Given the description of an element on the screen output the (x, y) to click on. 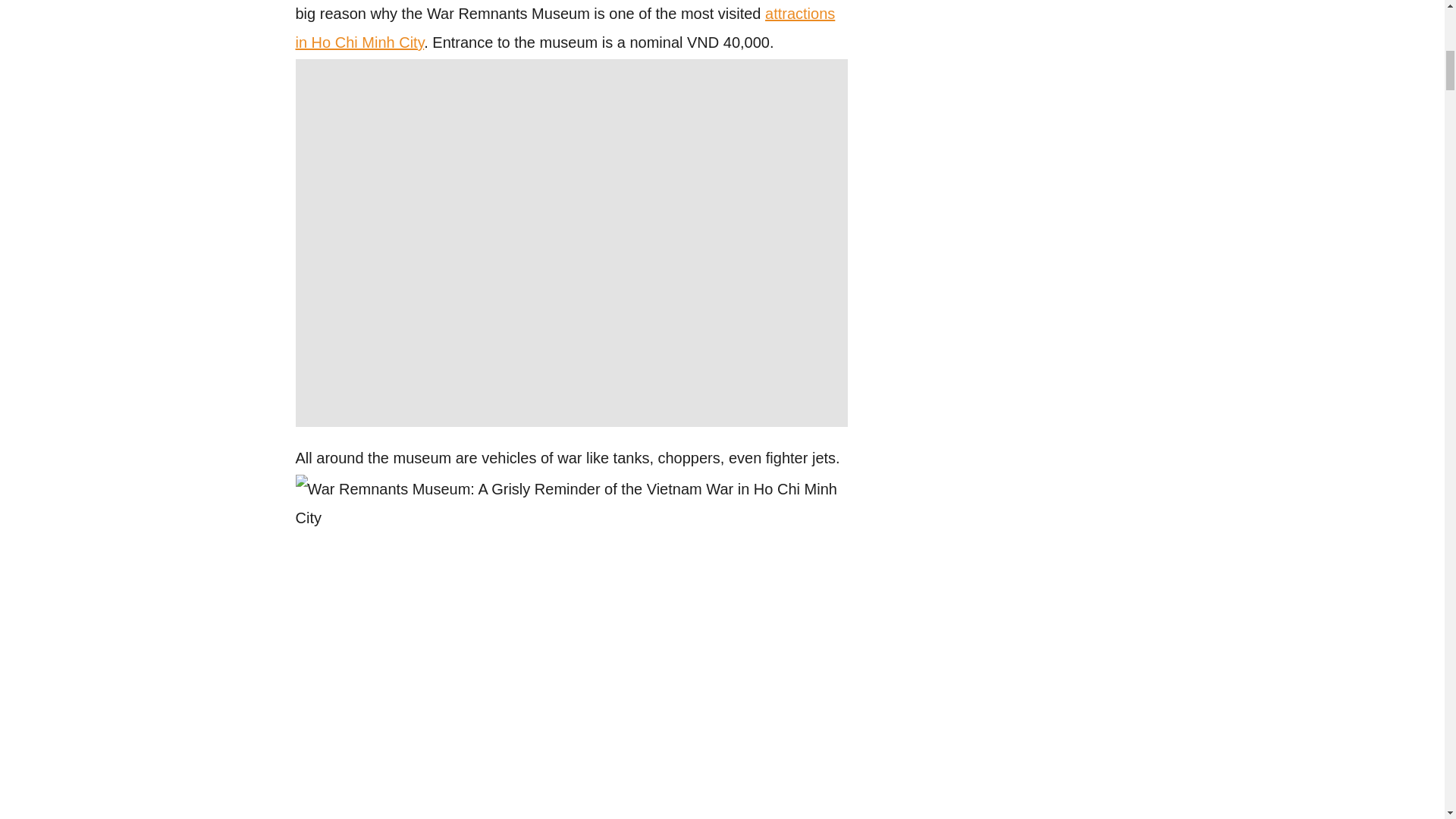
attractions in Ho Chi Minh City (565, 27)
